Given the description of an element on the screen output the (x, y) to click on. 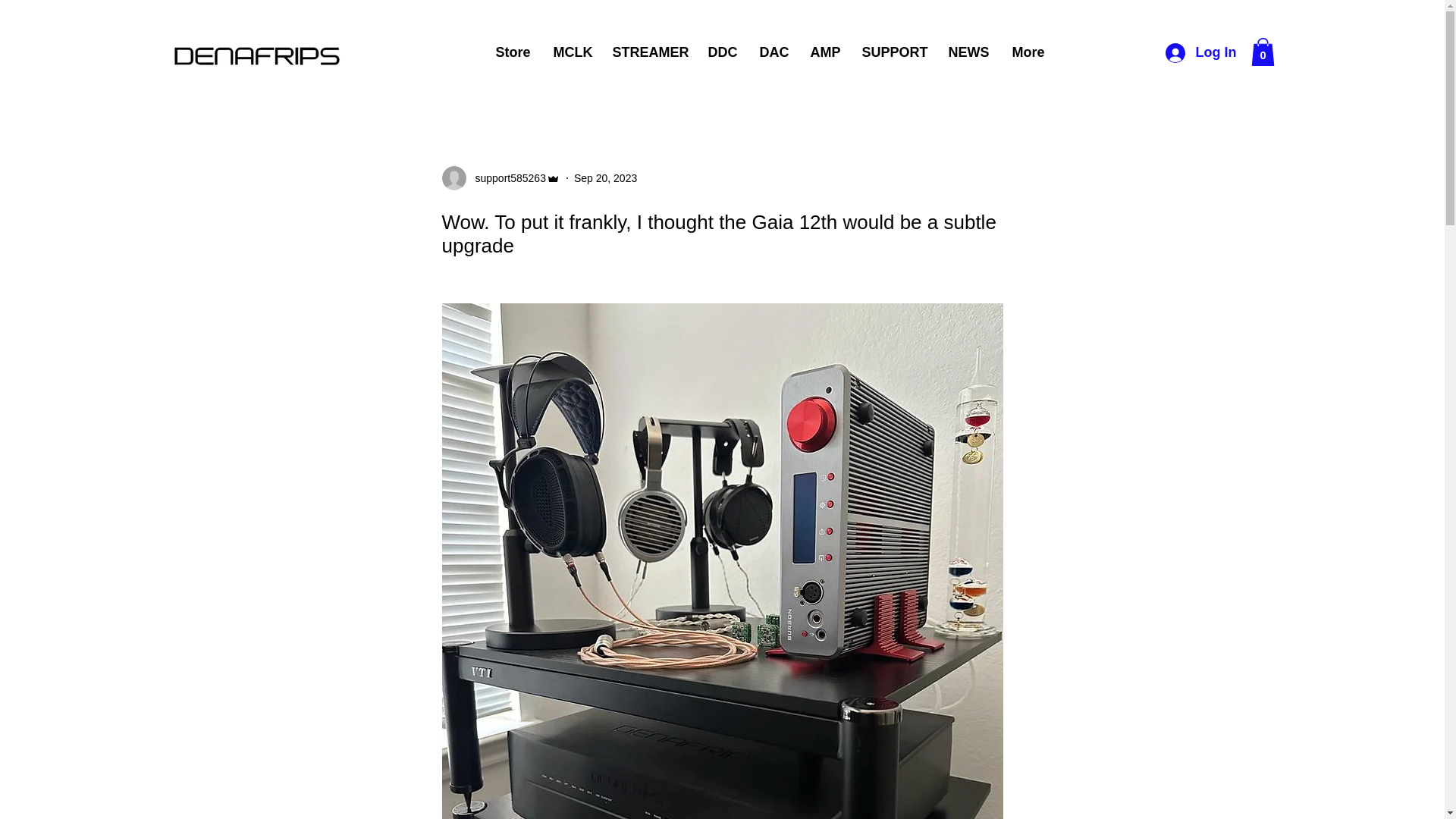
MCLK (570, 52)
Store (511, 52)
support585263 (504, 178)
DAC (772, 52)
STREAMER (647, 52)
Sep 20, 2023 (605, 177)
DDC (721, 52)
AMP (824, 52)
